Given the description of an element on the screen output the (x, y) to click on. 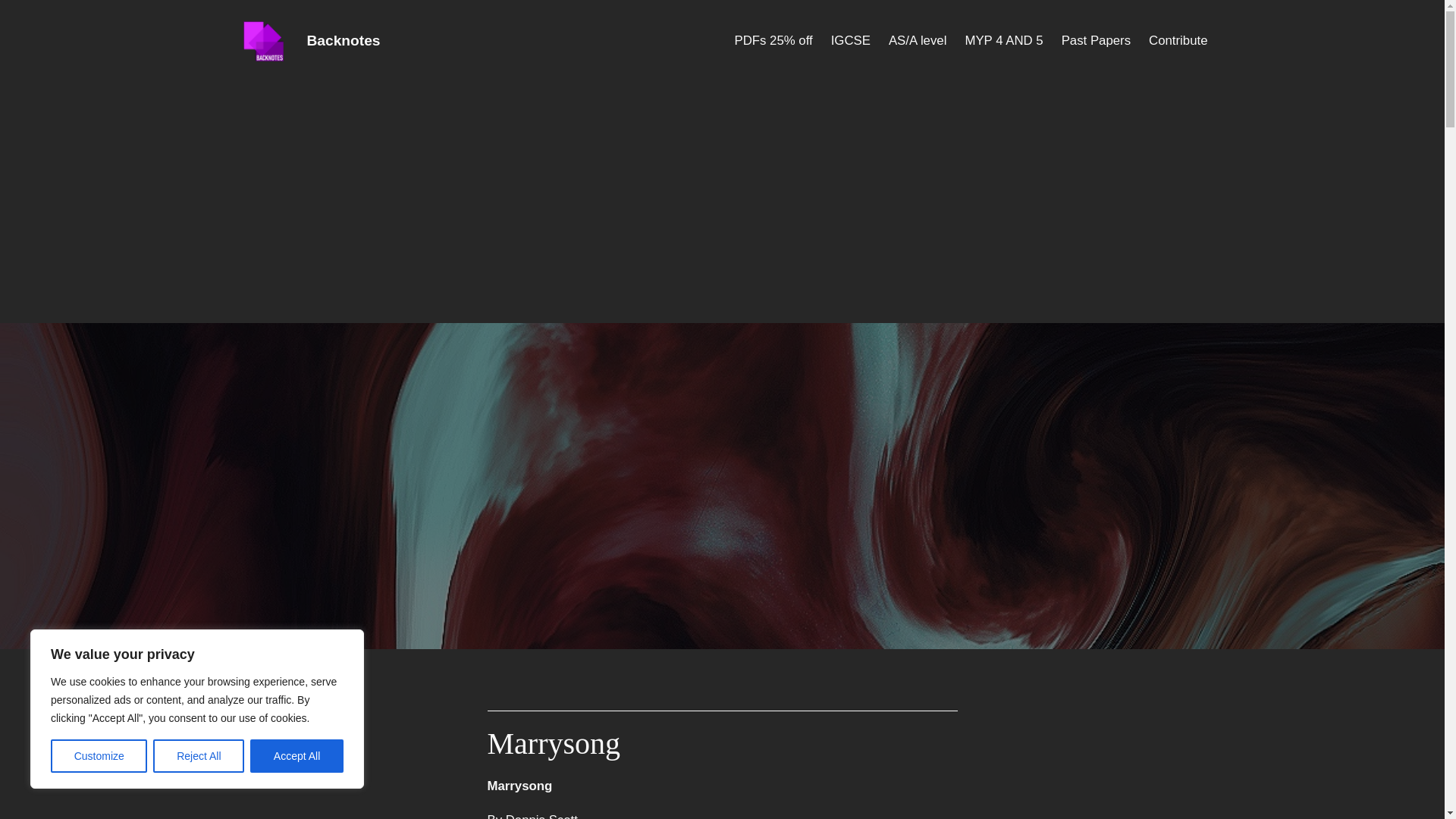
Contribute (1177, 40)
Customize (98, 756)
MYP 4 AND 5 (1002, 40)
Past Papers (1096, 40)
Reject All (198, 756)
Accept All (296, 756)
Backnotes (342, 40)
IGCSE (850, 40)
